Given the description of an element on the screen output the (x, y) to click on. 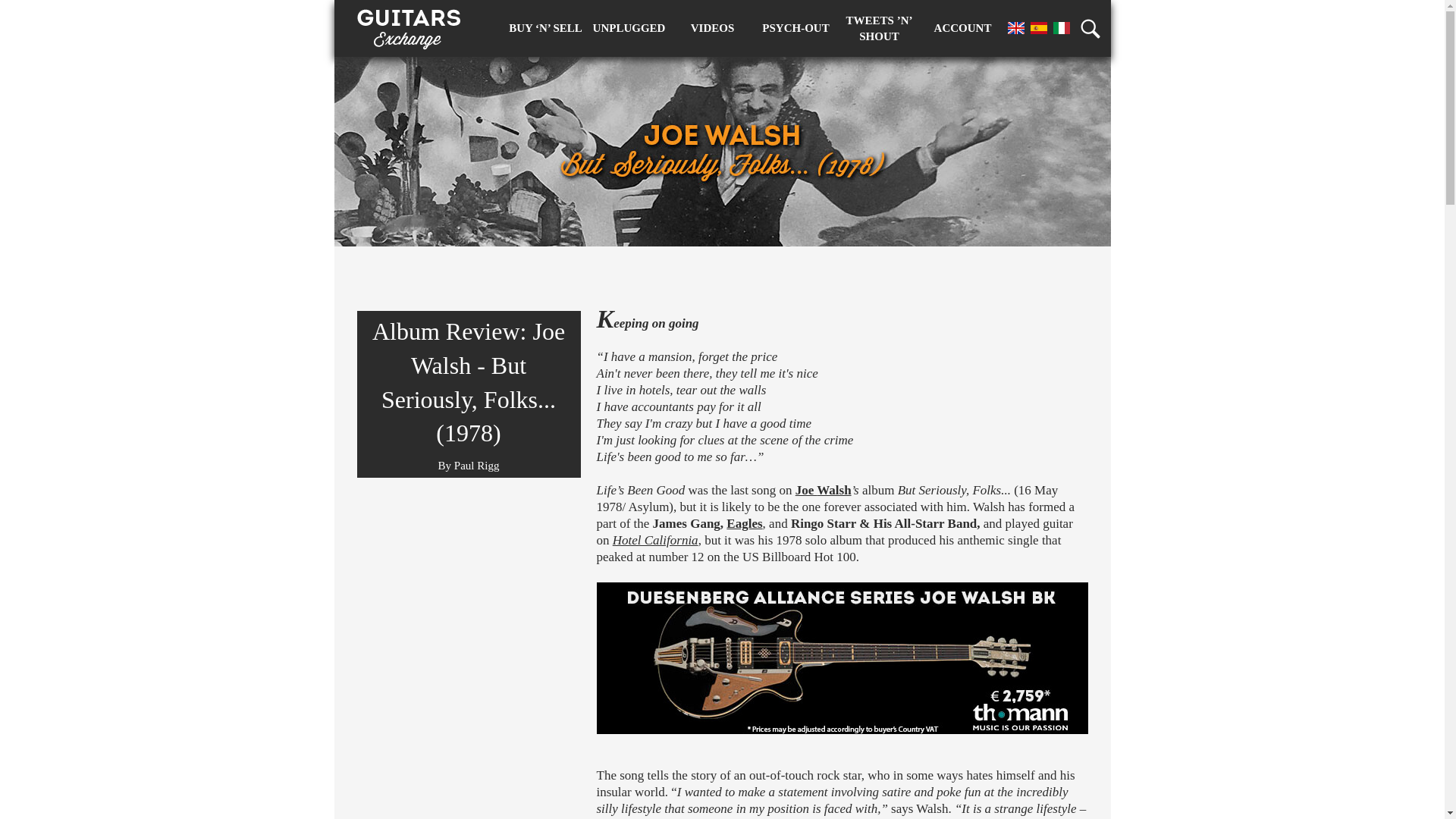
ES (1037, 27)
PSYCH-OUT (795, 28)
Guitars Exchange (408, 24)
SEARCH (1094, 28)
IT (1060, 27)
Joe Walsh (822, 490)
ACCOUNT (962, 28)
UNPLUGGED (627, 28)
EN (1015, 27)
VIDEOS (711, 28)
Eagles (743, 523)
Hotel California (655, 540)
